Given the description of an element on the screen output the (x, y) to click on. 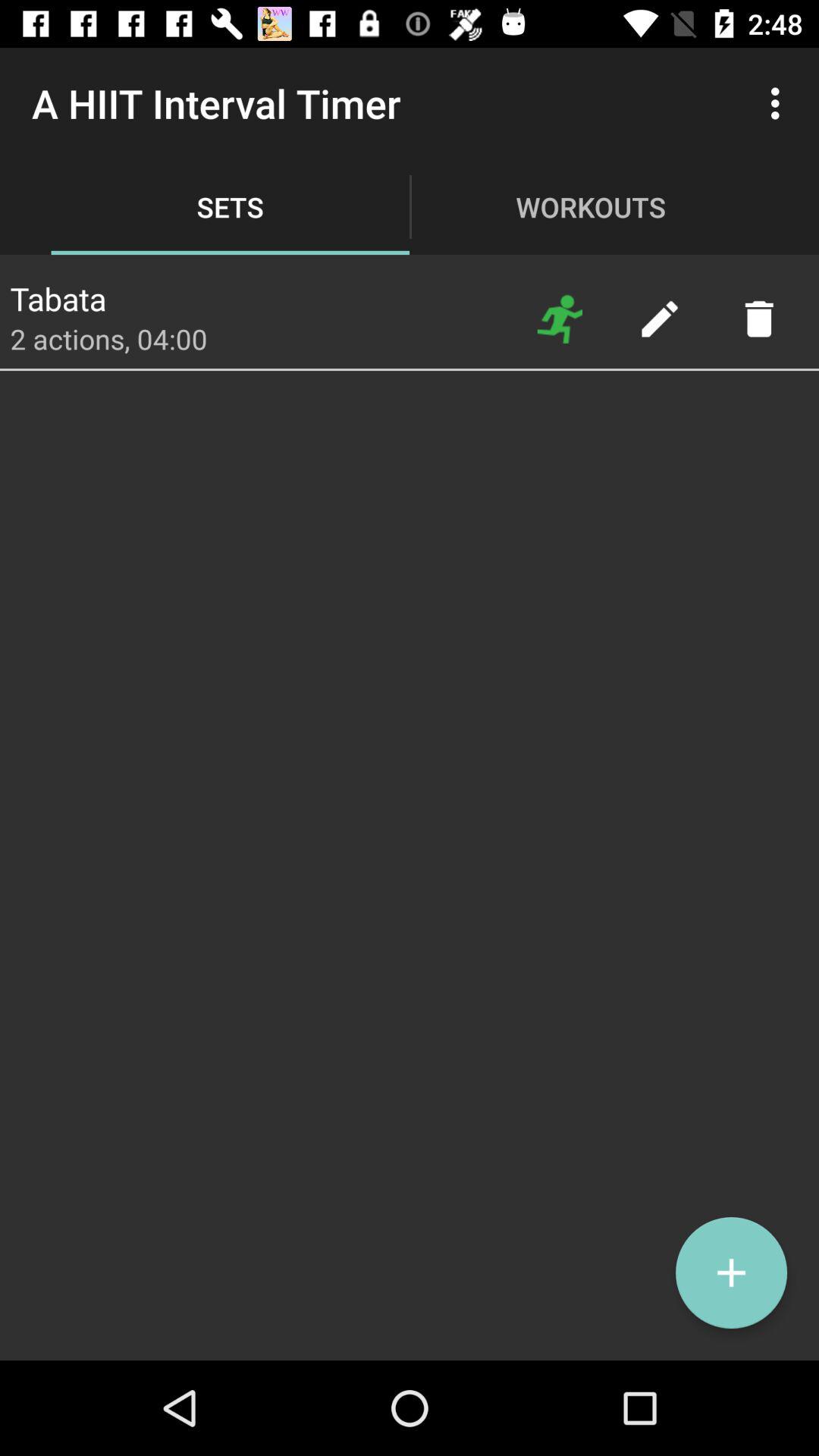
turn off the item at the bottom right corner (731, 1272)
